Given the description of an element on the screen output the (x, y) to click on. 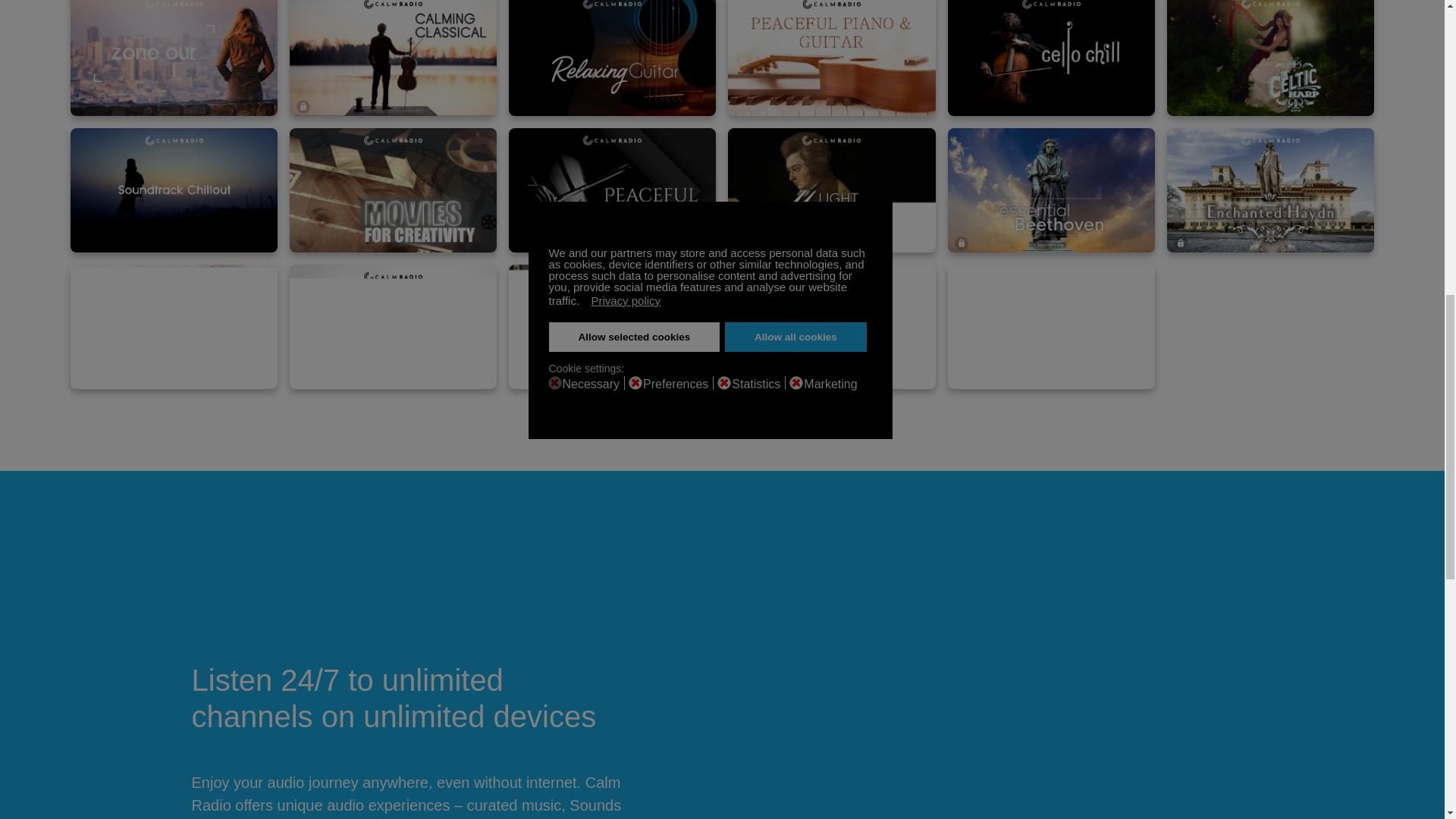
Marketing (832, 382)
Privacy policy (626, 300)
ESSENTIAL BEETHOVEN (1050, 189)
RELAXING GUITAR (612, 58)
ZONE OUT (172, 58)
PEACEFUL BACH (612, 189)
Allow all cookies (795, 337)
CALMING CLASSICAL (392, 58)
BEST OF BRAHMS (172, 326)
Necessary (594, 382)
